Given the description of an element on the screen output the (x, y) to click on. 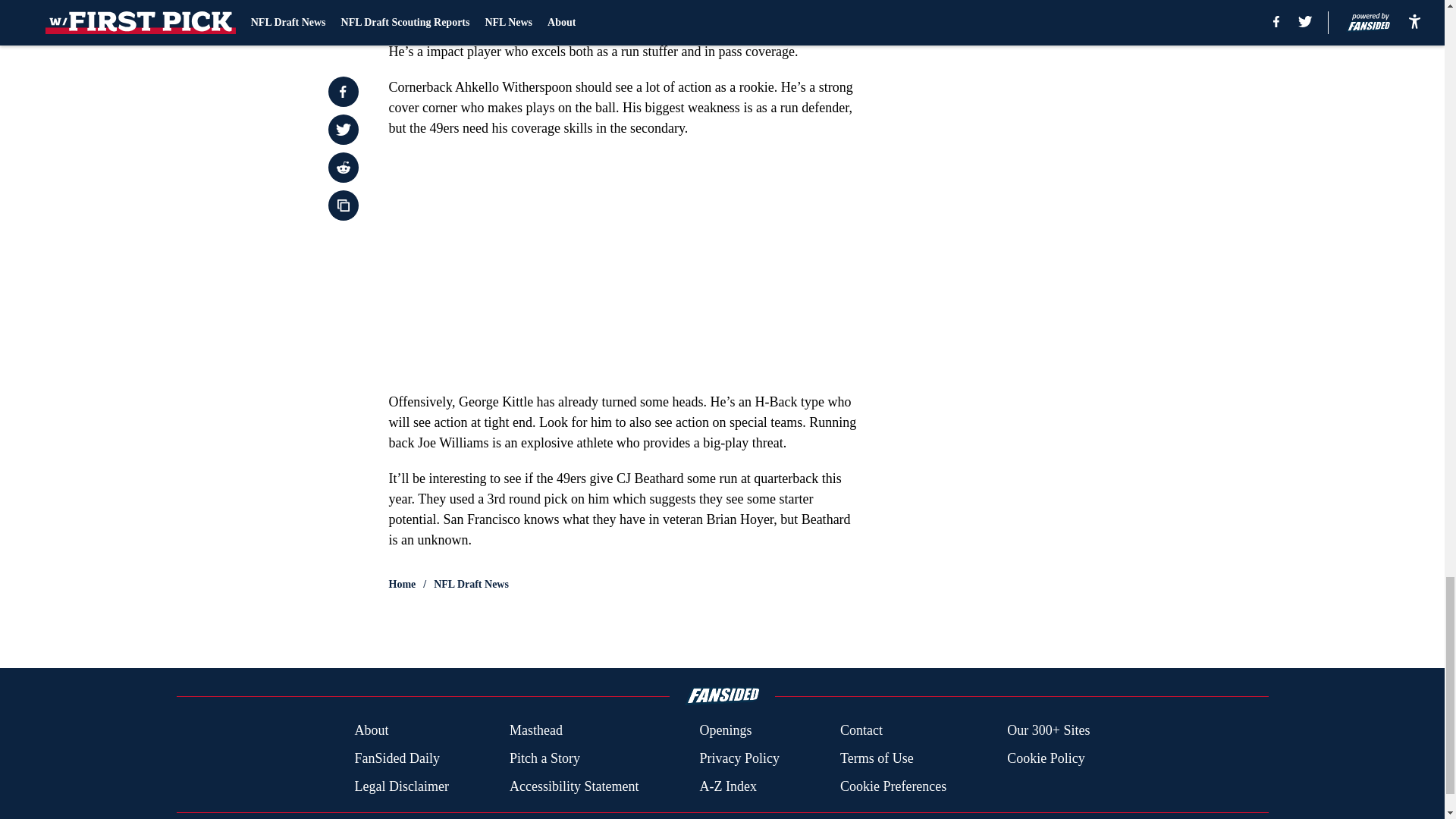
FanSided Daily (396, 758)
Openings (724, 730)
Terms of Use (877, 758)
Privacy Policy (738, 758)
About (370, 730)
Accessibility Statement (574, 786)
Cookie Policy (1045, 758)
NFL Draft News (470, 584)
A-Z Index (726, 786)
Cookie Preferences (893, 786)
Legal Disclaimer (400, 786)
Pitch a Story (544, 758)
Contact (861, 730)
Masthead (535, 730)
Home (401, 584)
